Given the description of an element on the screen output the (x, y) to click on. 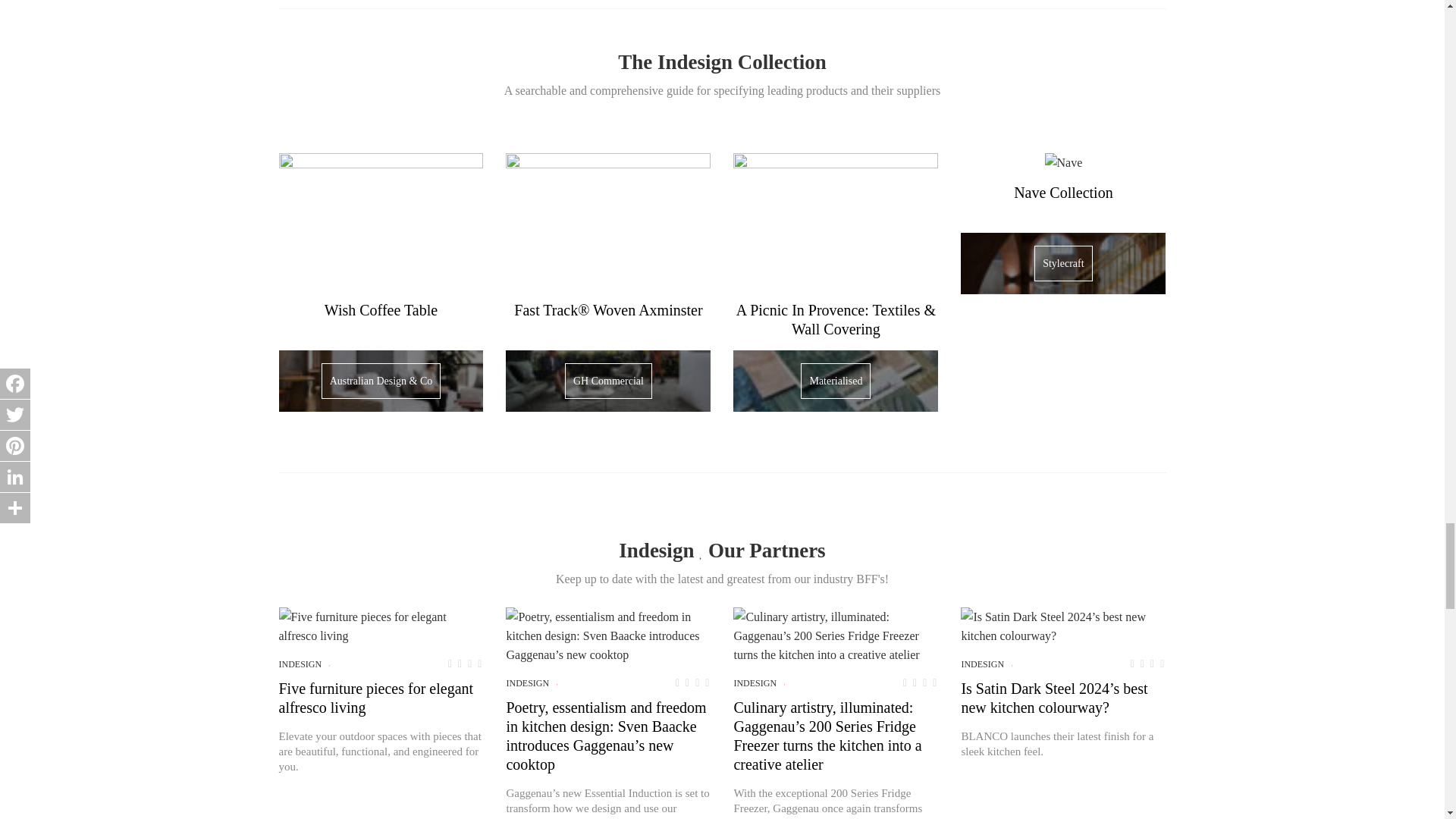
Five furniture pieces for elegant alfresco living (381, 626)
